Given the description of an element on the screen output the (x, y) to click on. 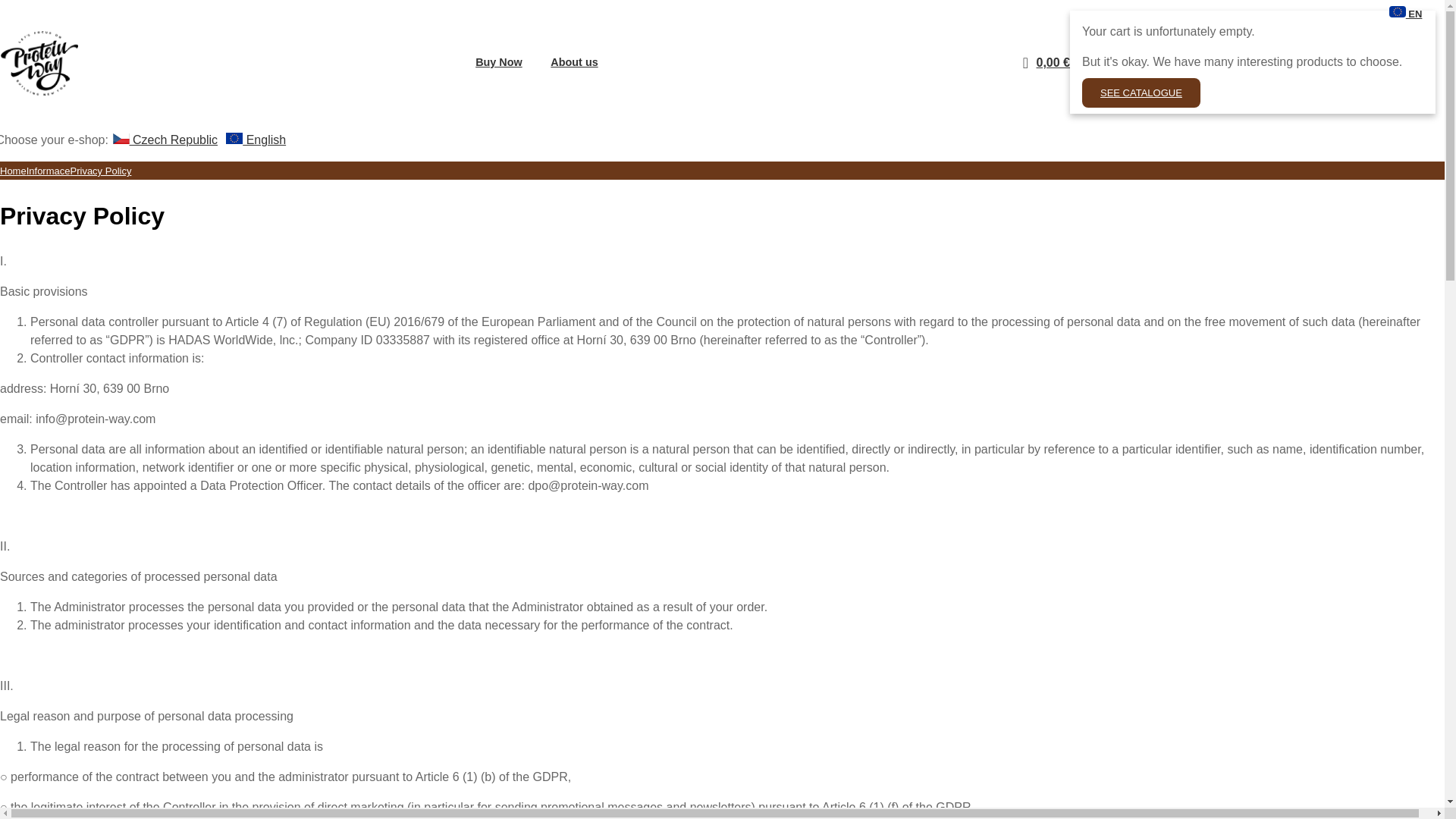
EN (1405, 13)
Switch e-shop: Czech (165, 140)
About us (580, 61)
SEE CATALOGUE (1140, 92)
Czech Republic (165, 140)
Buy Now (504, 61)
Switch e-shop: English (255, 140)
Privacy Policy (100, 171)
English (255, 140)
Home (13, 171)
Informace (47, 171)
Switch e-shop (1405, 13)
Price incl. VAT (1051, 62)
